Given the description of an element on the screen output the (x, y) to click on. 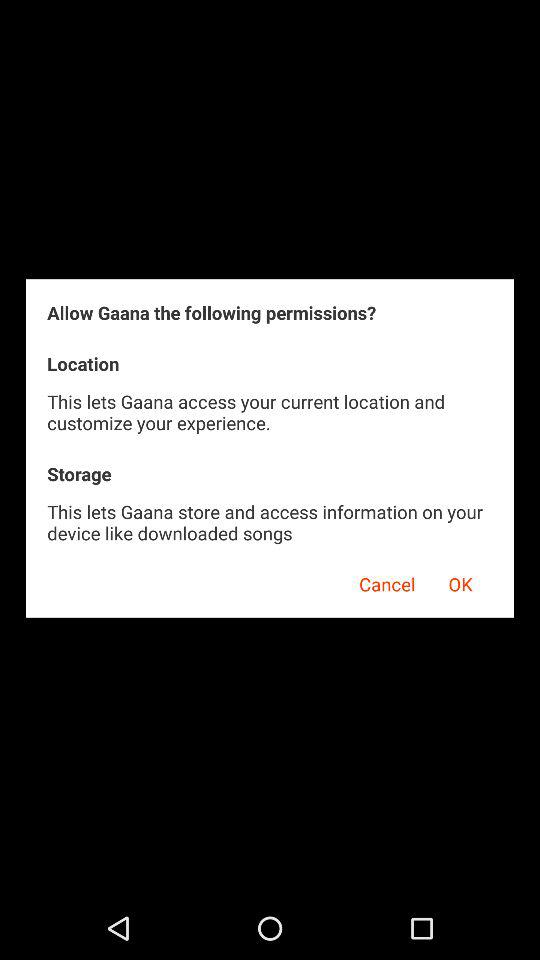
scroll until cancel app (380, 581)
